Given the description of an element on the screen output the (x, y) to click on. 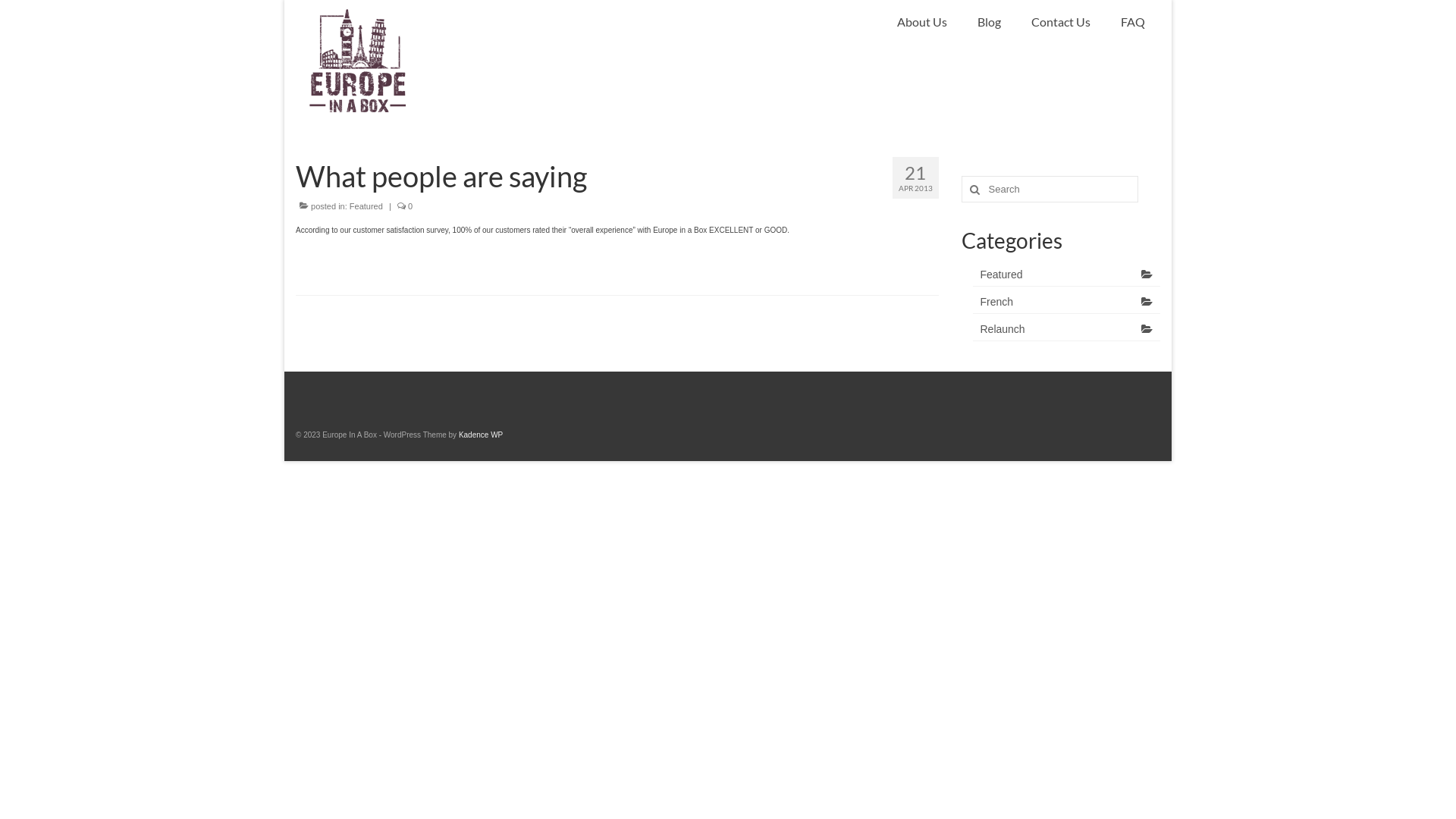
Blog Element type: text (989, 21)
French Element type: text (1066, 301)
Contact Us Element type: text (1060, 21)
Relaunch Element type: text (1066, 329)
Featured Element type: text (1066, 274)
Featured Element type: text (365, 205)
FAQ Element type: text (1132, 21)
About Us Element type: text (921, 21)
Kadence WP Element type: text (480, 434)
